Given the description of an element on the screen output the (x, y) to click on. 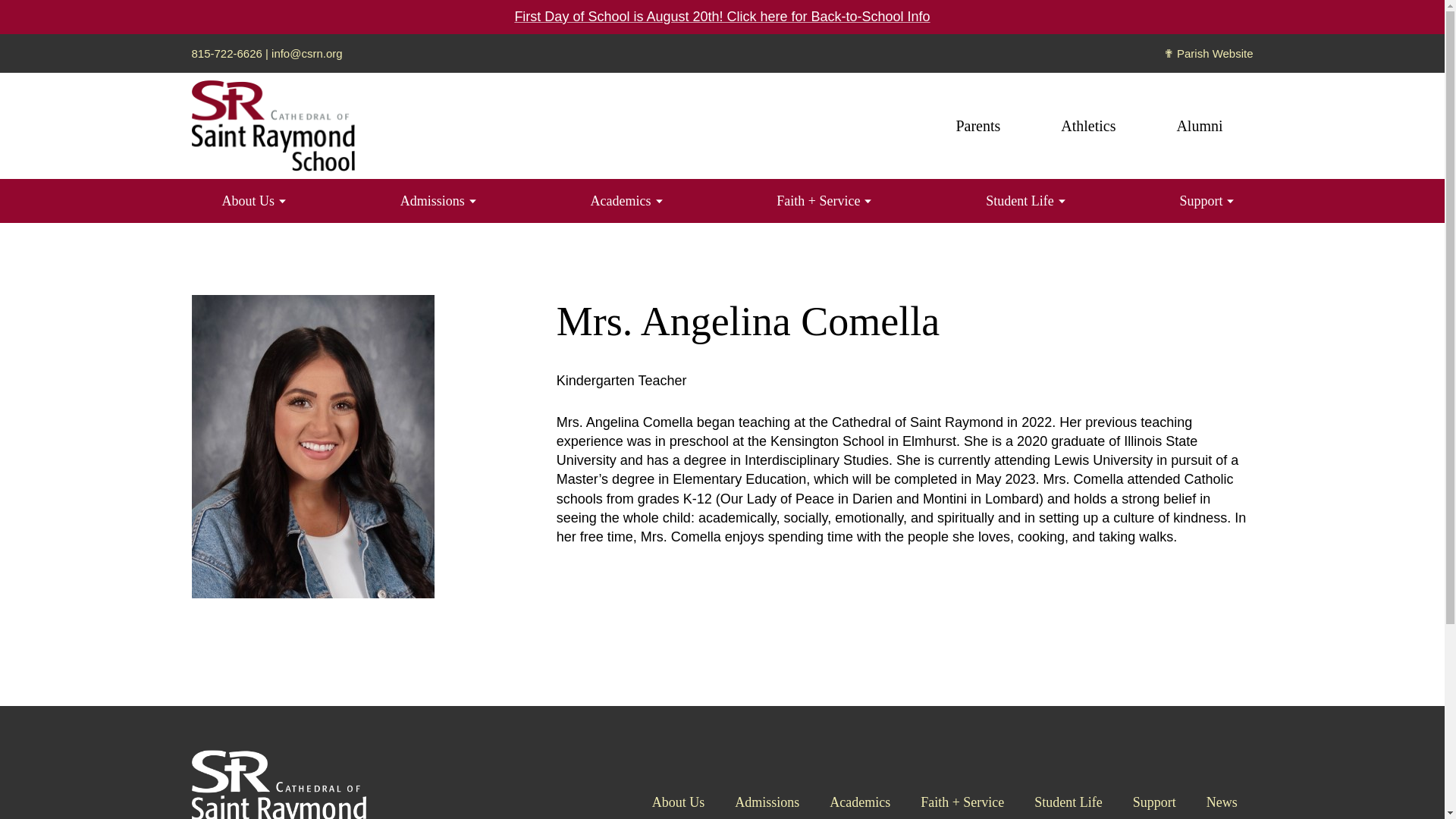
About Us (247, 200)
Academics (620, 200)
Cathedral of Saint Raymond School (271, 125)
Alumni (1198, 125)
Athletics (1087, 125)
Parents (977, 125)
Admissions (432, 200)
